Given the description of an element on the screen output the (x, y) to click on. 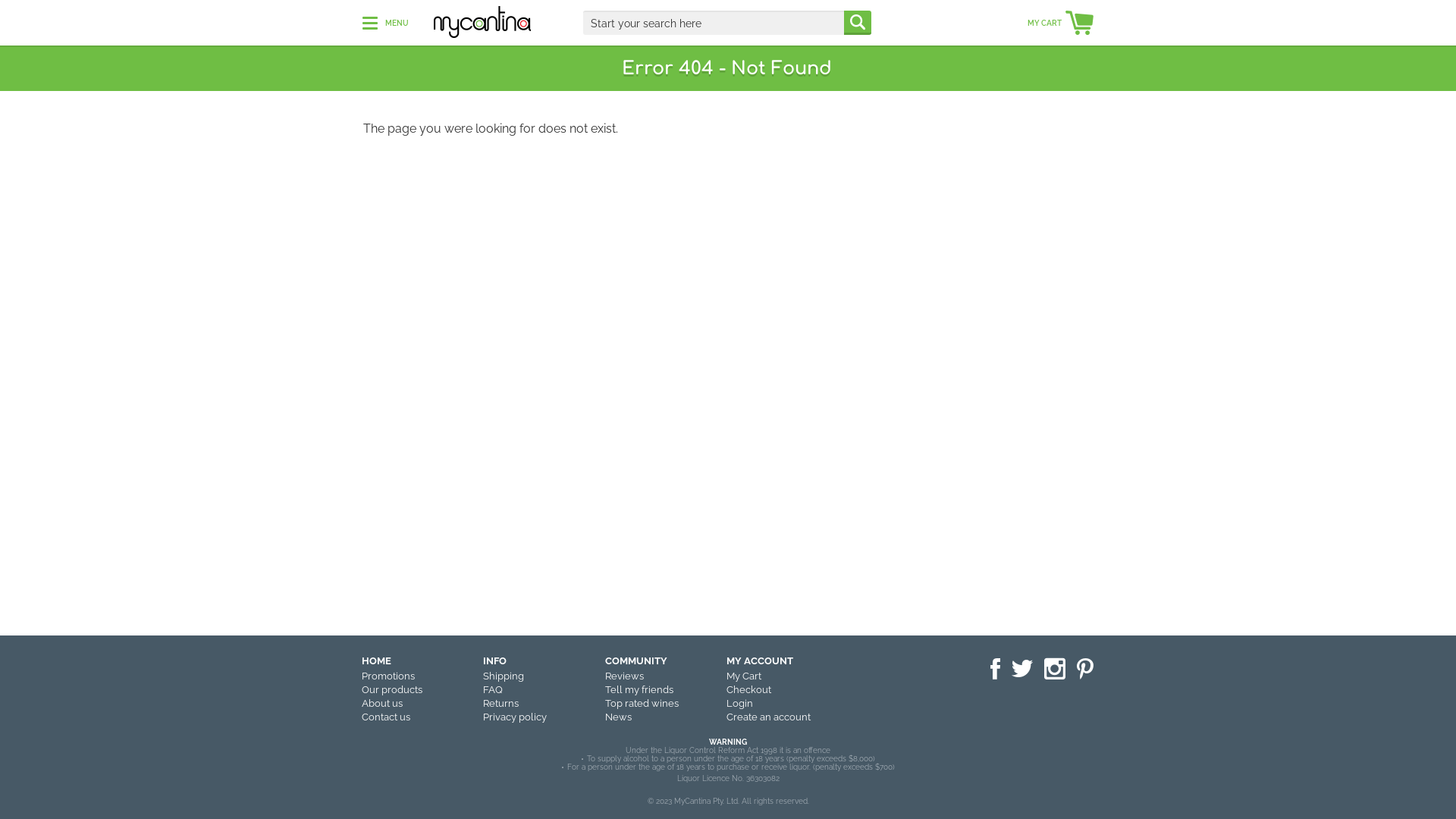
Tell my friends Element type: text (639, 689)
INFO Element type: text (494, 660)
Login Element type: text (739, 703)
MyCantina on Pinterest Element type: hover (1084, 670)
MyCantina on Facebook Element type: hover (995, 670)
Shipping Element type: text (503, 675)
Reviews Element type: text (624, 675)
MyCantina on Instagram Element type: hover (1054, 670)
About us Element type: text (381, 703)
Checkout Element type: text (748, 689)
Privacy policy Element type: text (514, 716)
Contact us Element type: text (385, 716)
MY ACCOUNT Element type: text (759, 660)
MENU Element type: text (385, 22)
Our products Element type: text (391, 689)
COMMUNITY Element type: text (636, 660)
FAQ Element type: text (492, 689)
Create an account Element type: text (768, 716)
Top rated wines Element type: text (641, 703)
Returns Element type: text (500, 703)
My Cart Element type: text (743, 675)
News Element type: text (618, 716)
Promotions Element type: text (387, 675)
MyCantina on Twitter Element type: hover (1021, 668)
MY CART Element type: text (1060, 23)
HOME Element type: text (376, 660)
